Given the description of an element on the screen output the (x, y) to click on. 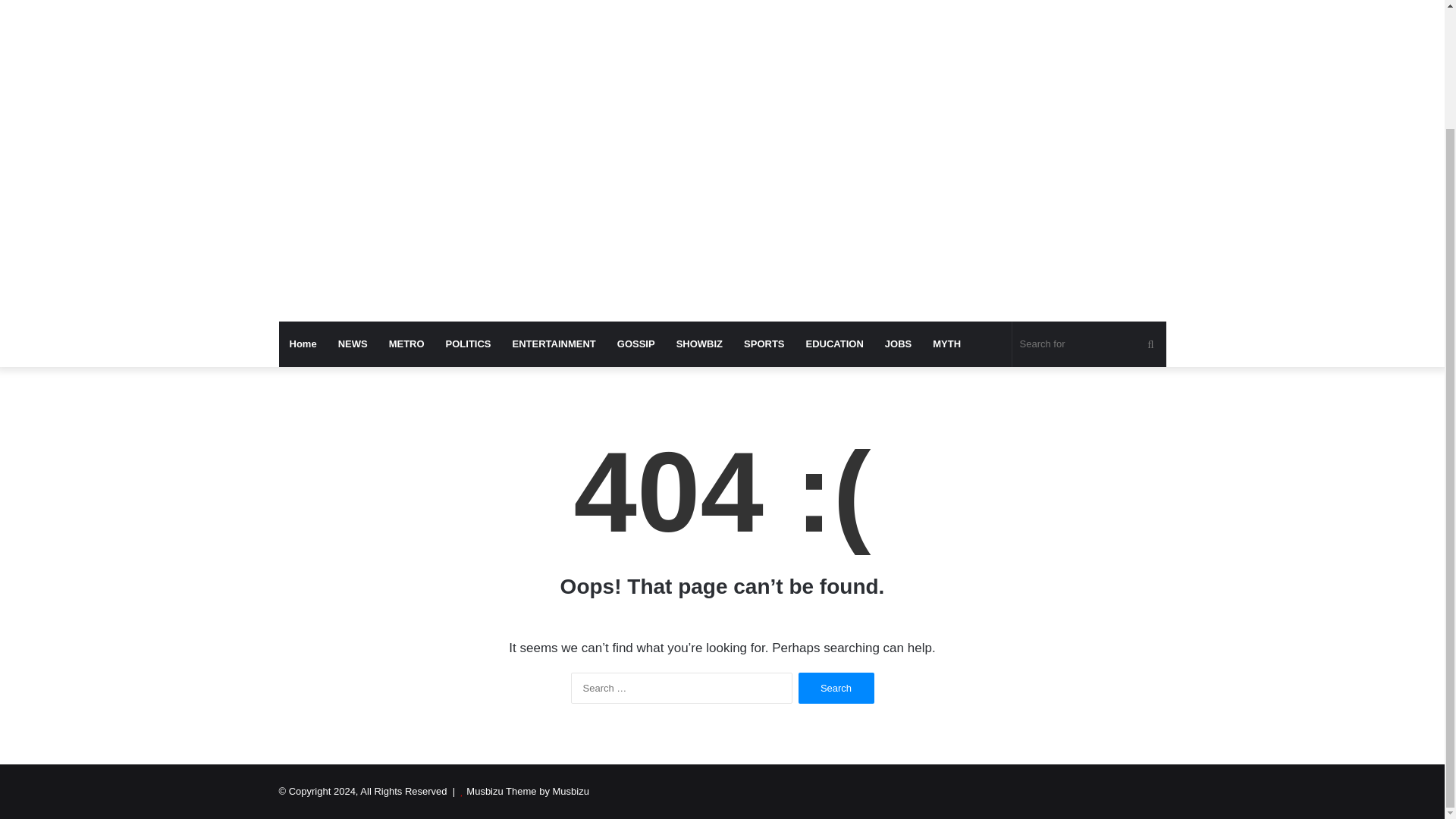
GOSSIP (636, 343)
Home (303, 343)
ENTERTAINMENT (554, 343)
EDUCATION (834, 343)
JOBS (898, 343)
POLITICS (468, 343)
Musbizu (419, 4)
Musbizu Theme by Musbizu (527, 790)
Search (835, 687)
